Given the description of an element on the screen output the (x, y) to click on. 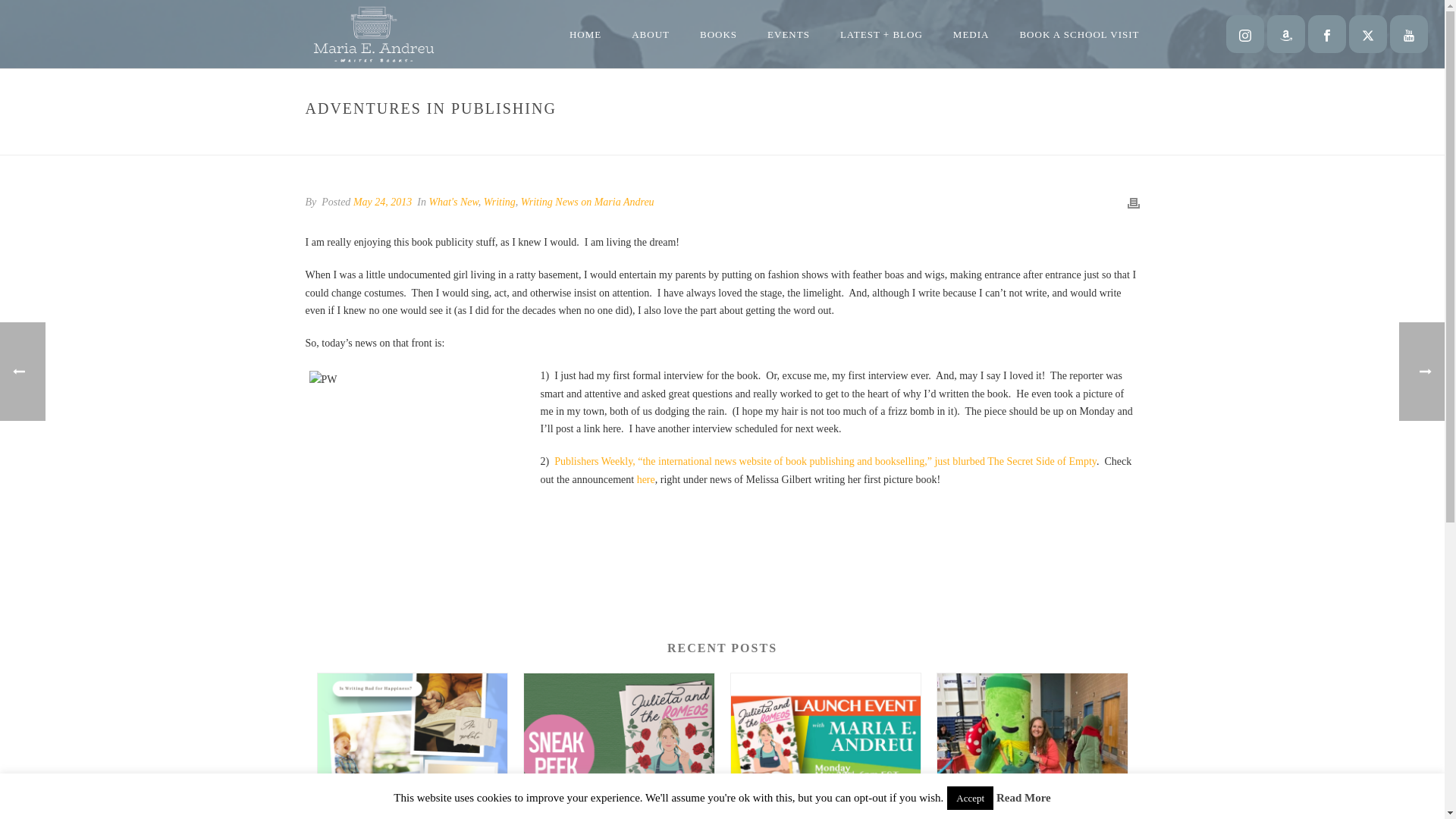
BOOKS (718, 34)
Happiness is bad for writing. Is writing bad for happiness? (411, 746)
ABOUT (649, 34)
Site of author Maria E. Andreu (372, 33)
Poughkeepsie Book Festival (1031, 746)
MEDIA (970, 34)
ABOUT (649, 34)
Sneak Peek into JULIETA AND THE ROMEOS (619, 746)
BOOKS (718, 34)
EVENTS (788, 34)
BOOK A SCHOOL VISIT (1079, 34)
MEDIA (970, 34)
HOME (584, 34)
HOME (584, 34)
BOOK A SCHOOL VISIT (1079, 34)
